Given the description of an element on the screen output the (x, y) to click on. 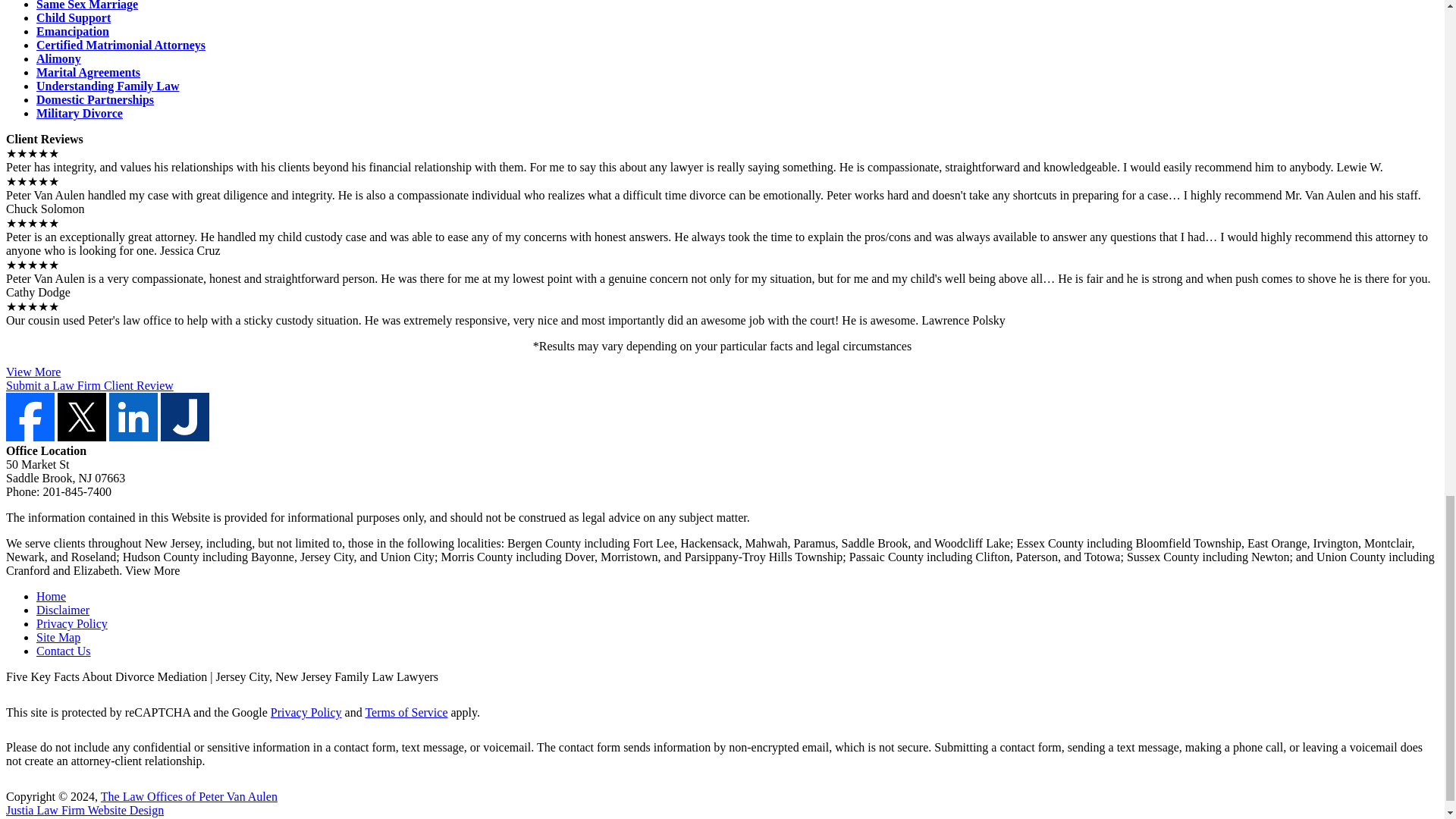
Understanding Family Law (107, 85)
Facebook (30, 436)
LinkedIn (133, 436)
Justia (184, 436)
Twitter (82, 436)
Certified Matrimonial Attorneys (120, 44)
Marital Agreements (87, 72)
Domestic Partnerships (95, 99)
Military Divorce (79, 113)
Alimony (58, 58)
Emancipation (72, 31)
Child Support (73, 17)
Submit a Law Firm Client Review (89, 385)
View More (33, 371)
Same Sex Marriage (87, 5)
